Given the description of an element on the screen output the (x, y) to click on. 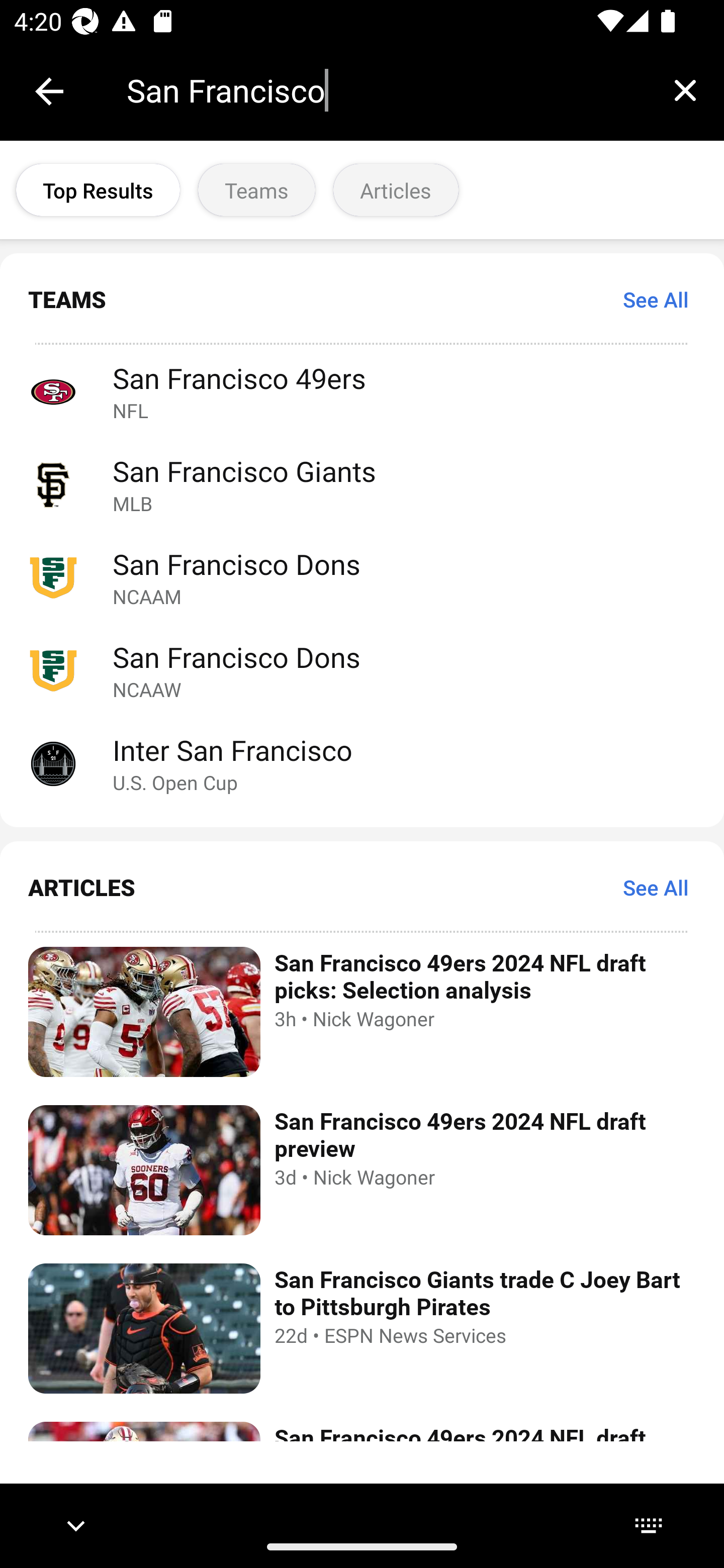
Collapse (49, 91)
Clear query (685, 89)
San Francisco (386, 90)
Top Results (97, 190)
Teams (256, 190)
Articles (395, 190)
See All (655, 298)
San Francisco 49ers : NFL San Francisco 49ers NFL (362, 390)
See All (655, 886)
